Given the description of an element on the screen output the (x, y) to click on. 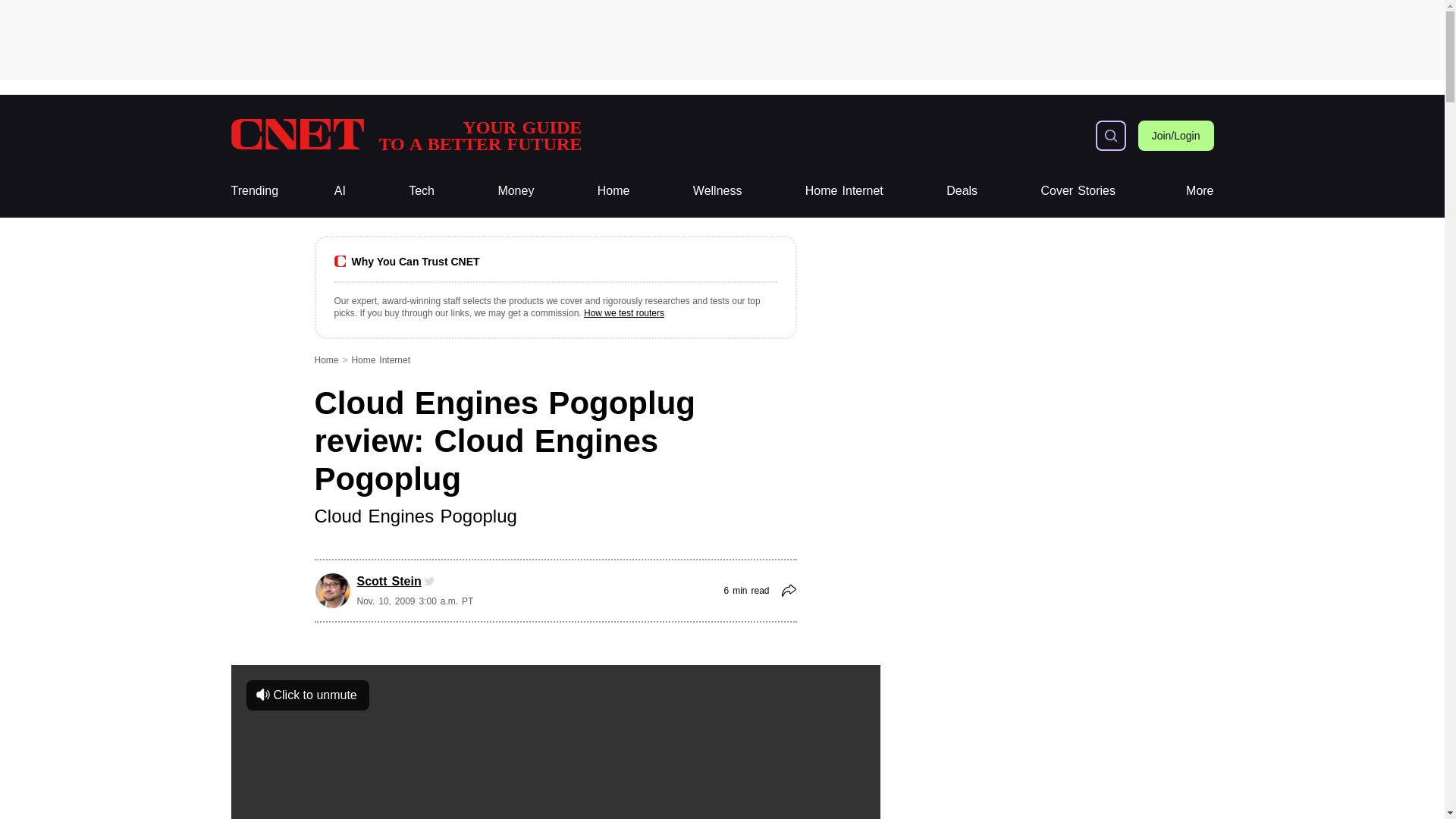
Wellness (717, 190)
Trending (254, 190)
Wellness (717, 190)
Deals (961, 190)
Home (613, 190)
AI (340, 190)
More (405, 135)
Money (1199, 190)
Money (515, 190)
Tech (515, 190)
Home Internet (421, 190)
Home Internet (844, 190)
Tech (844, 190)
3rd party ad content (421, 190)
